Given the description of an element on the screen output the (x, y) to click on. 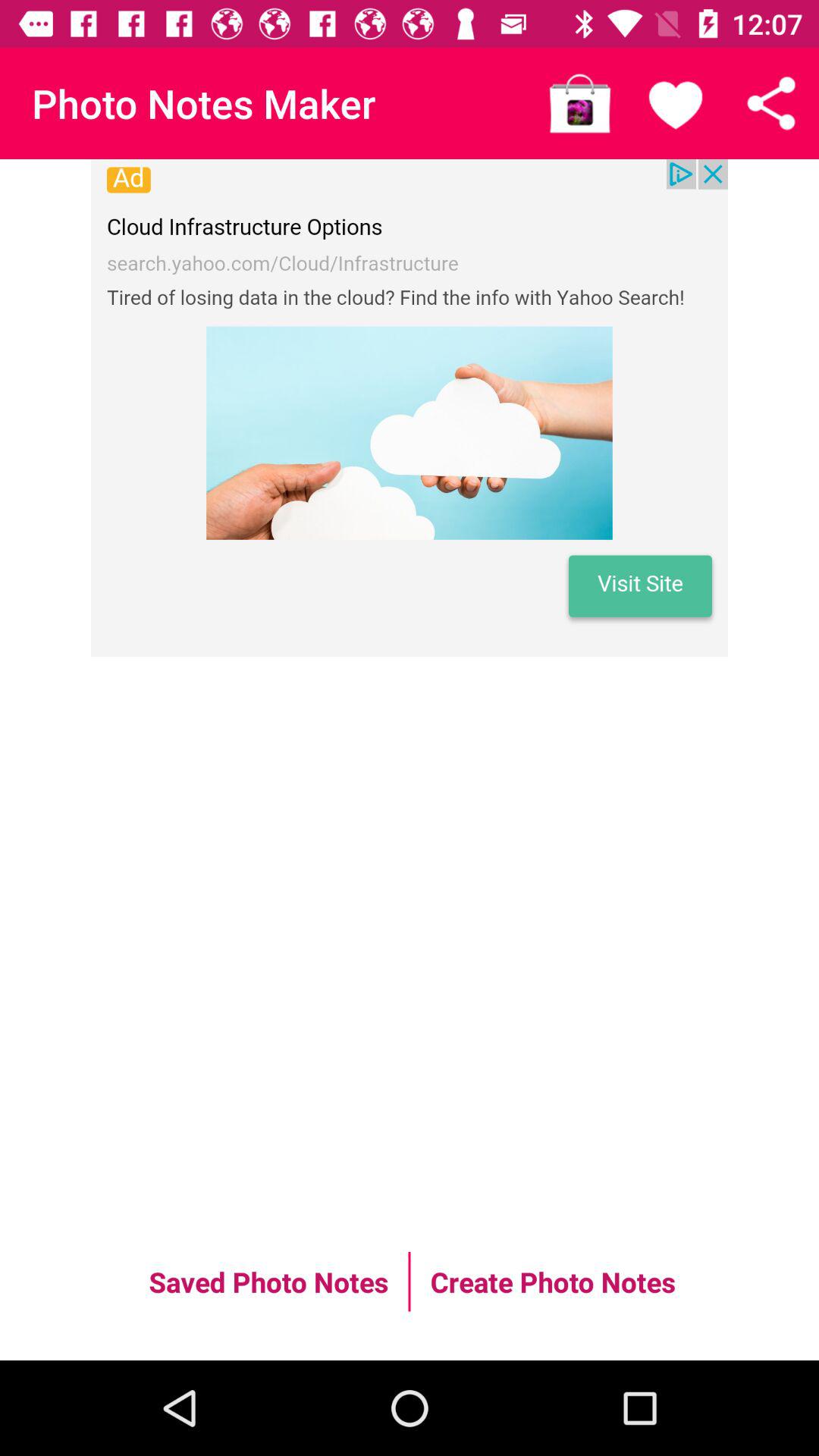
copy the sheet (771, 103)
